Given the description of an element on the screen output the (x, y) to click on. 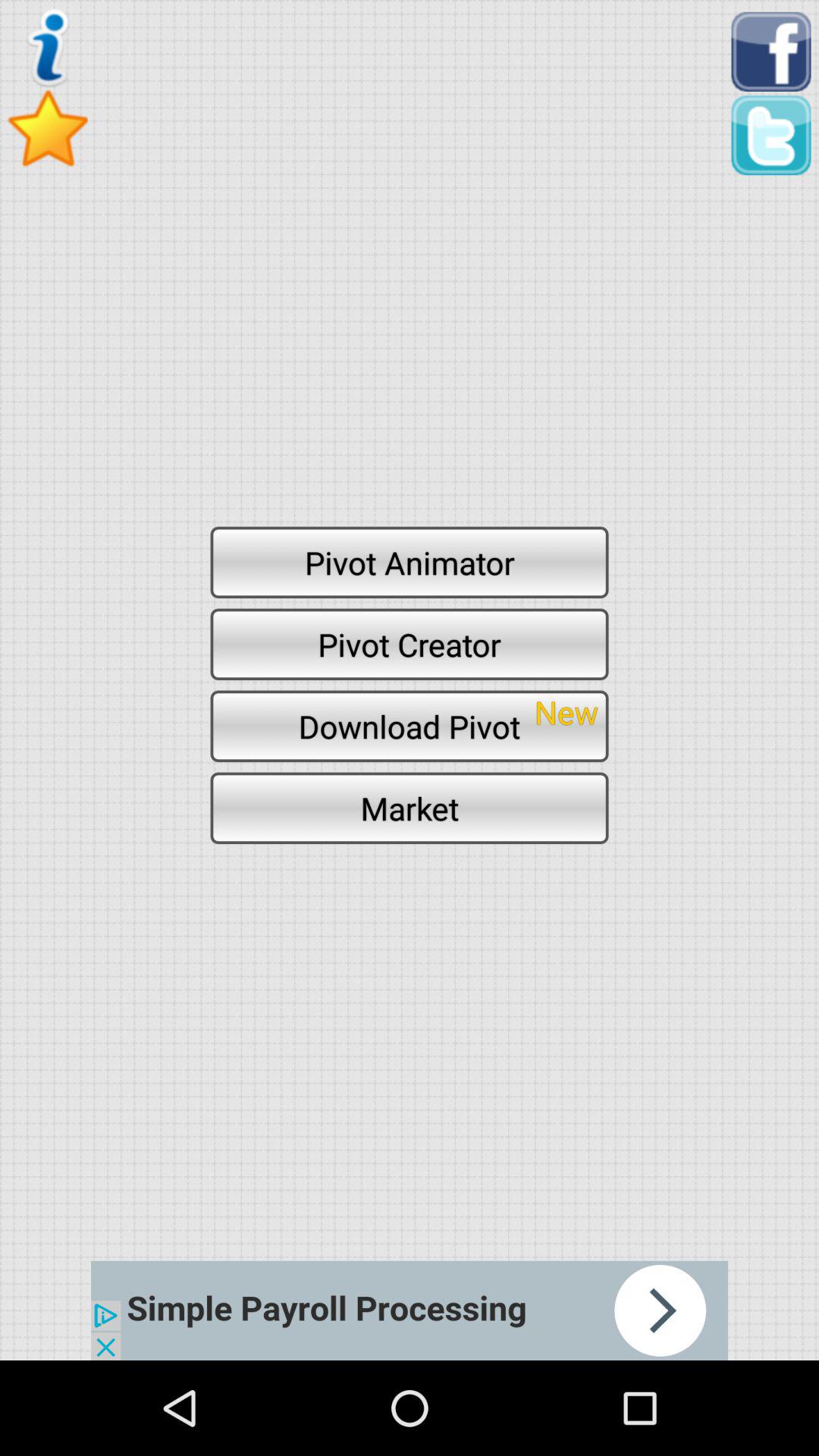
press the icon below the pivot creator (409, 726)
